Given the description of an element on the screen output the (x, y) to click on. 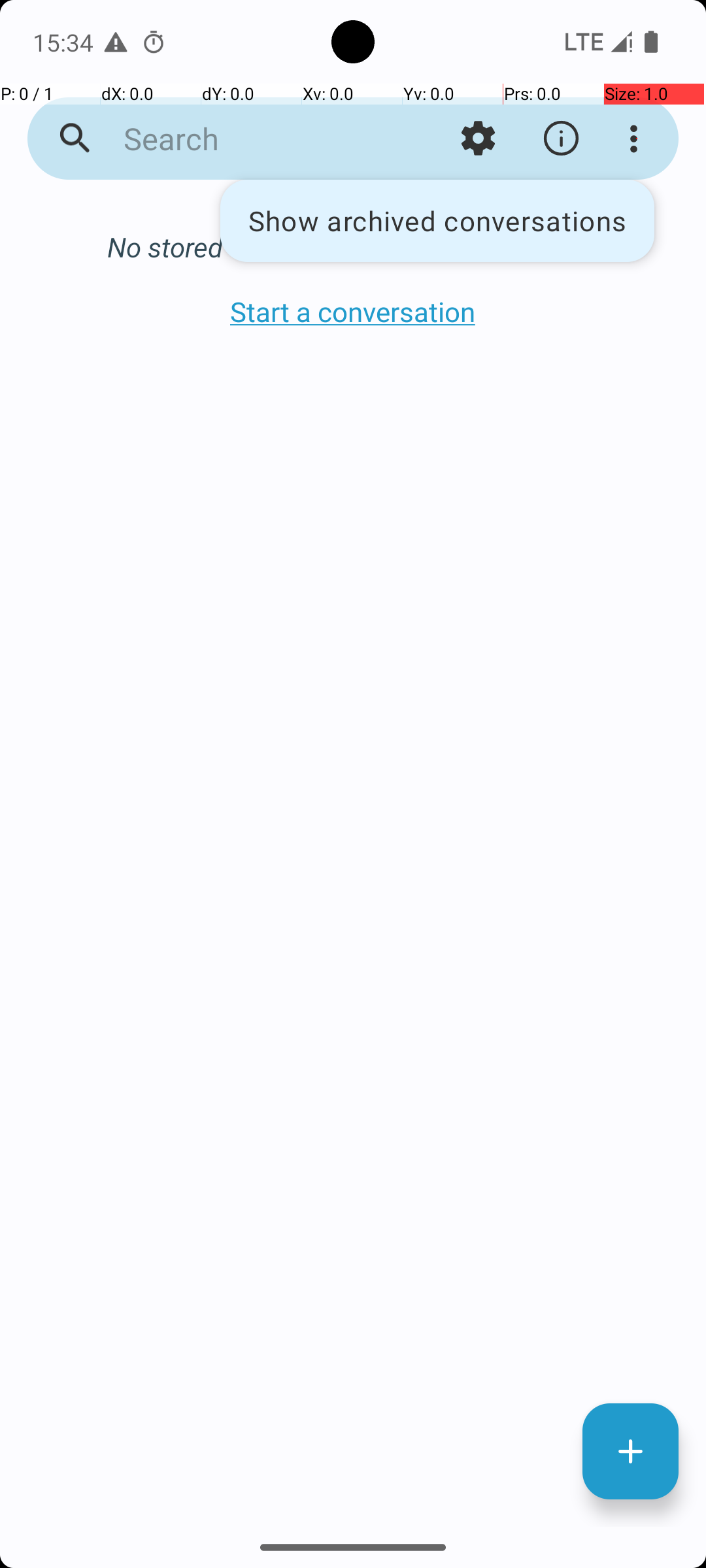
Show archived conversations Element type: android.widget.TextView (436, 220)
